Given the description of an element on the screen output the (x, y) to click on. 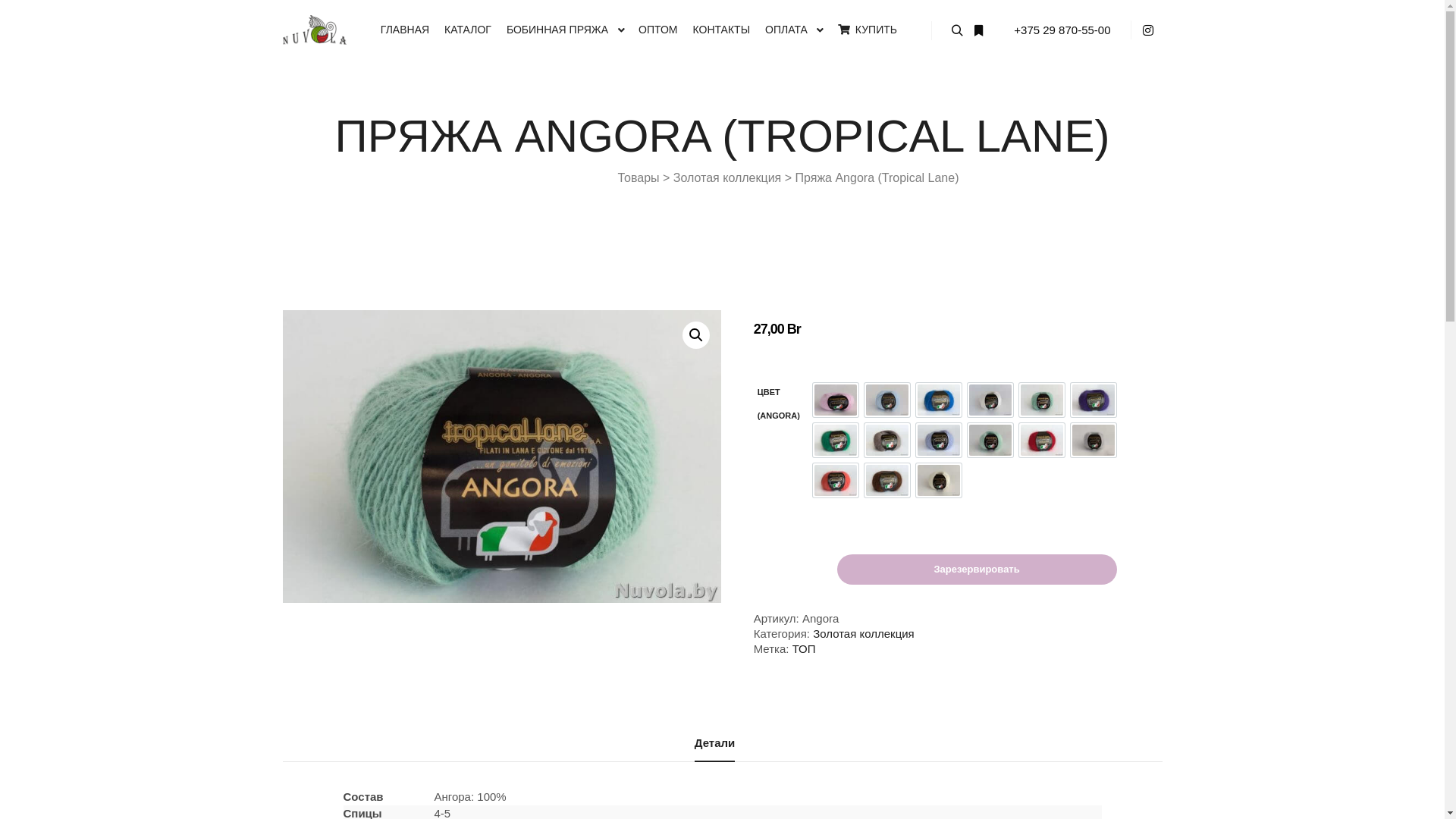
520 Element type: hover (938, 440)
111 Element type: hover (990, 399)
Nuvola.by Element type: hover (313, 29)
535 Element type: hover (1041, 440)
395 Element type: hover (887, 440)
Instagram Element type: hover (1151, 29)
180 Element type: hover (1093, 399)
532 Element type: hover (990, 440)
179 Element type: hover (1041, 399)
17 Element type: hover (887, 399)
900 Element type: hover (938, 480)
544 Element type: hover (1093, 440)
840 Element type: hover (887, 480)
300 Element type: hover (835, 440)
628 Element type: hover (835, 480)
54 Element type: hover (938, 399)
+375 29 870-55-00 Element type: text (1061, 28)
12 Element type: hover (835, 399)
